Given the description of an element on the screen output the (x, y) to click on. 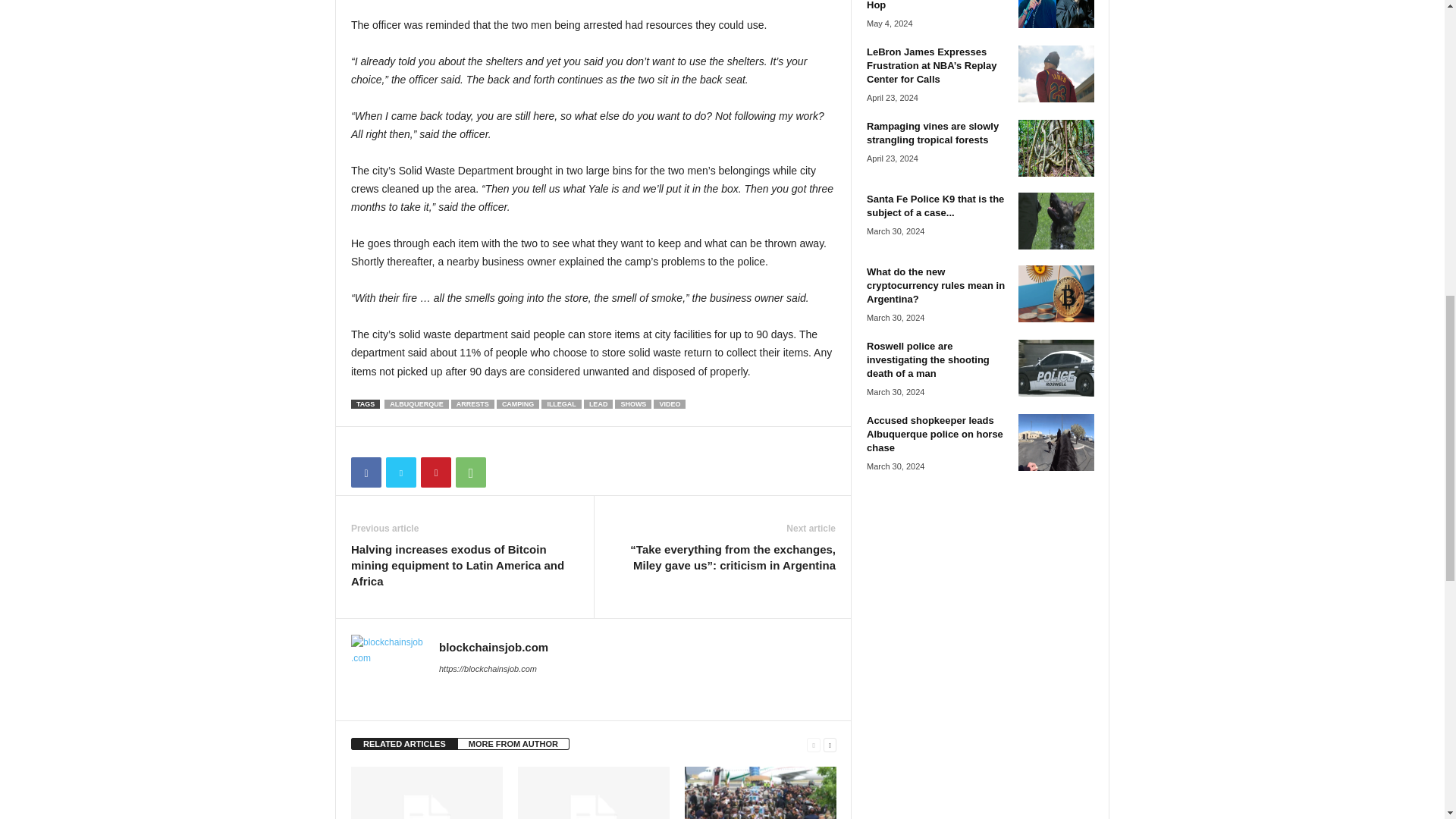
LEAD (597, 403)
RELATED ARTICLES (404, 743)
Twitter (400, 472)
bottomFacebookLike (390, 442)
ILLEGAL (560, 403)
VIDEO (669, 403)
SHOWS (632, 403)
Pinterest (435, 472)
ALBUQUERQUE (416, 403)
Facebook (365, 472)
CAMPING (518, 403)
WhatsApp (470, 472)
blockchainsjob.com (493, 646)
ARRESTS (473, 403)
